Given the description of an element on the screen output the (x, y) to click on. 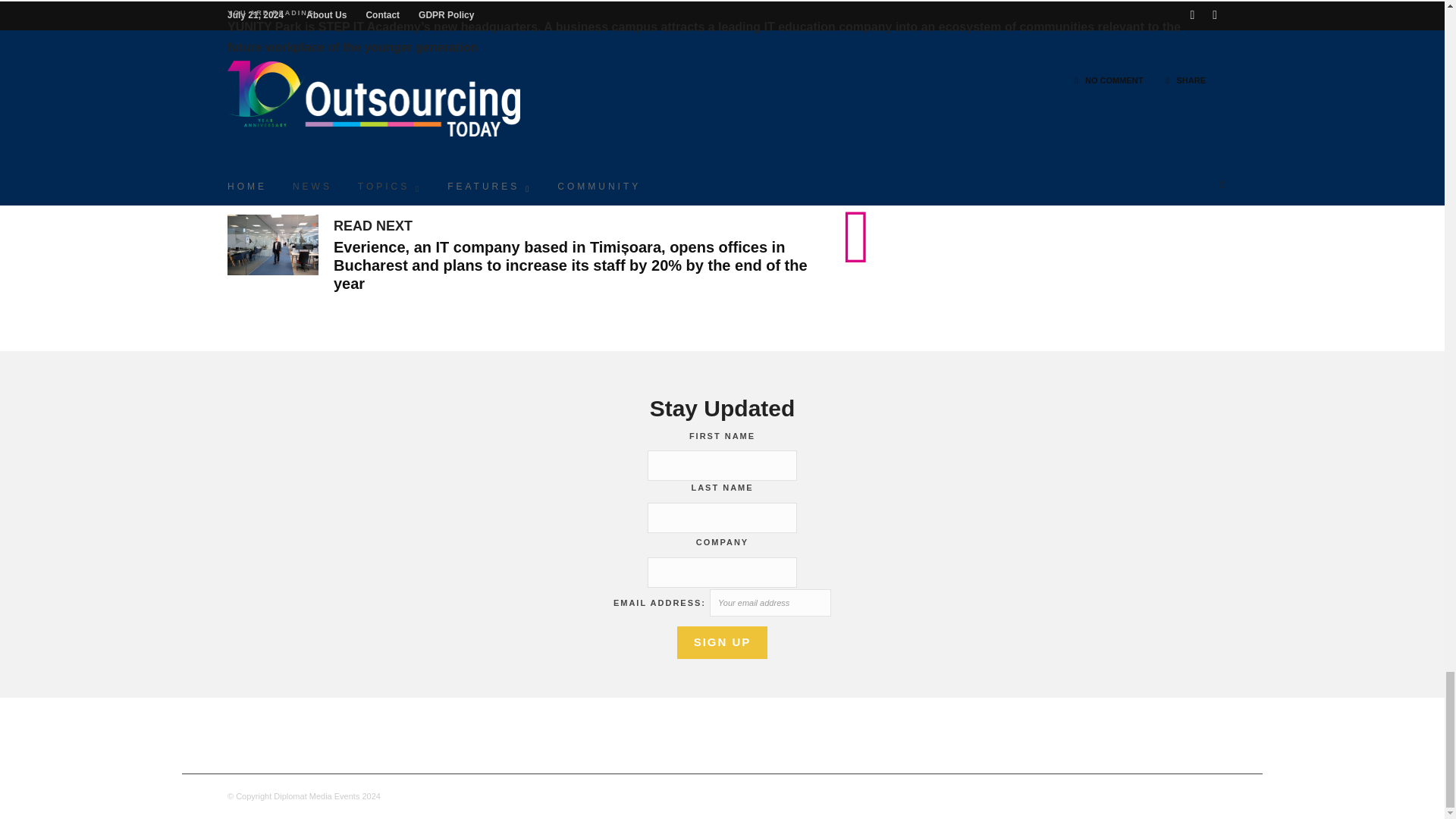
Sign up (722, 642)
